Given the description of an element on the screen output the (x, y) to click on. 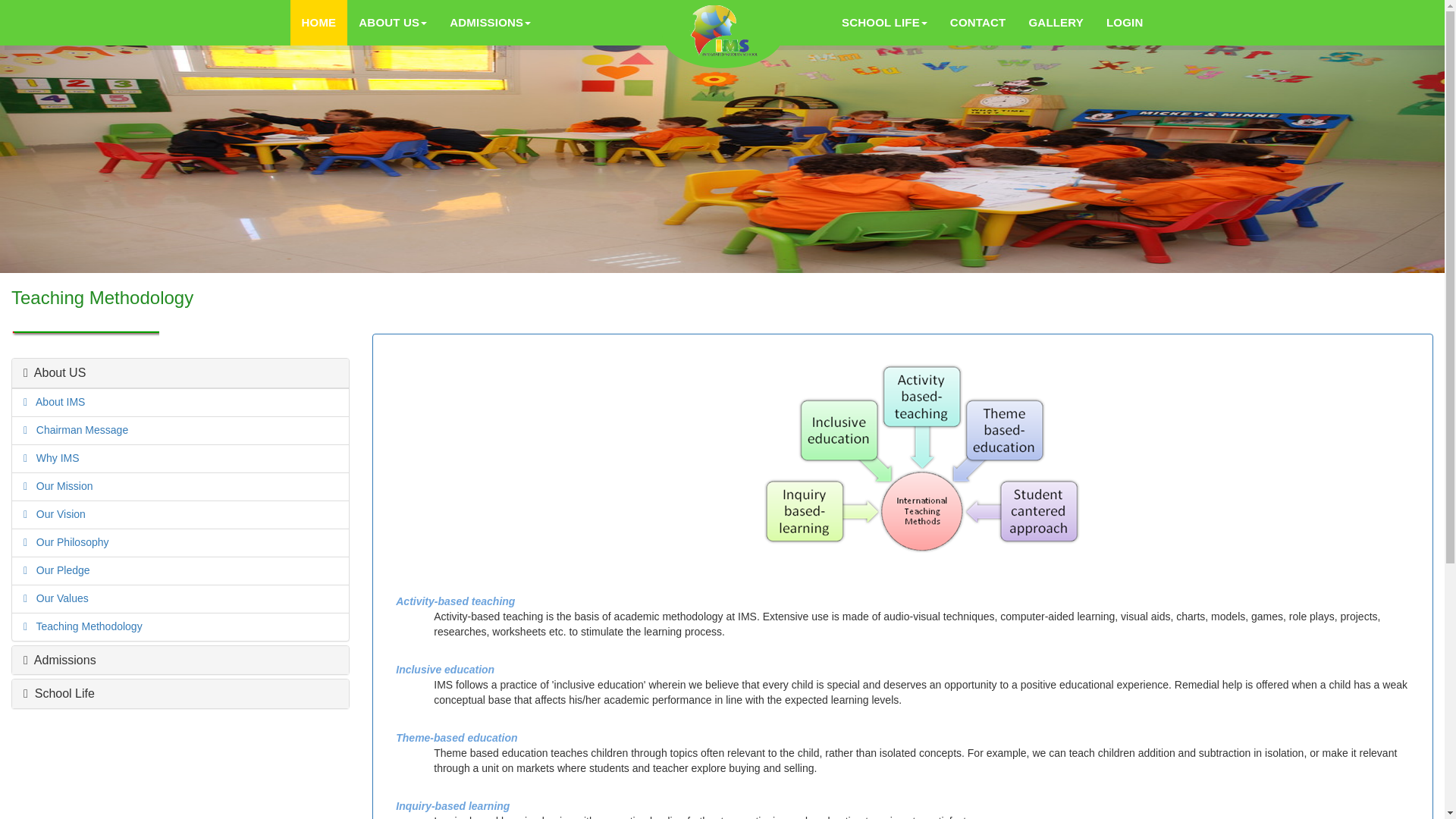
   Chairman Message (77, 429)
   About IMS (55, 401)
  Admissions (59, 659)
HOME (318, 22)
   Our Pledge (58, 570)
   Our Mission (415, 22)
LOGIN (60, 485)
  School Life (1124, 22)
   Why IMS (58, 693)
